Given the description of an element on the screen output the (x, y) to click on. 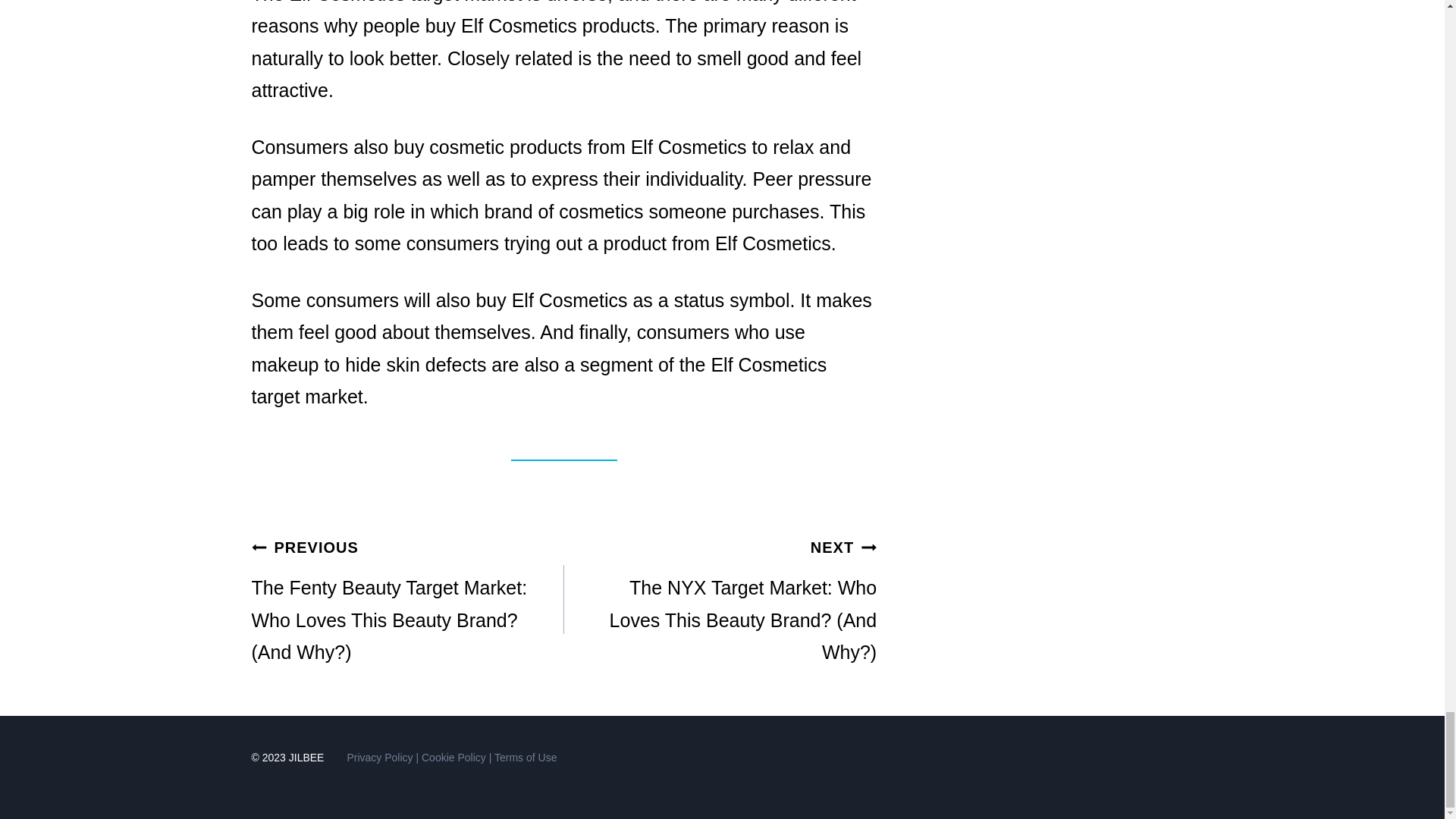
Terms of Use (525, 757)
Cookie Policy (454, 757)
Privacy Policy (379, 757)
